Given the description of an element on the screen output the (x, y) to click on. 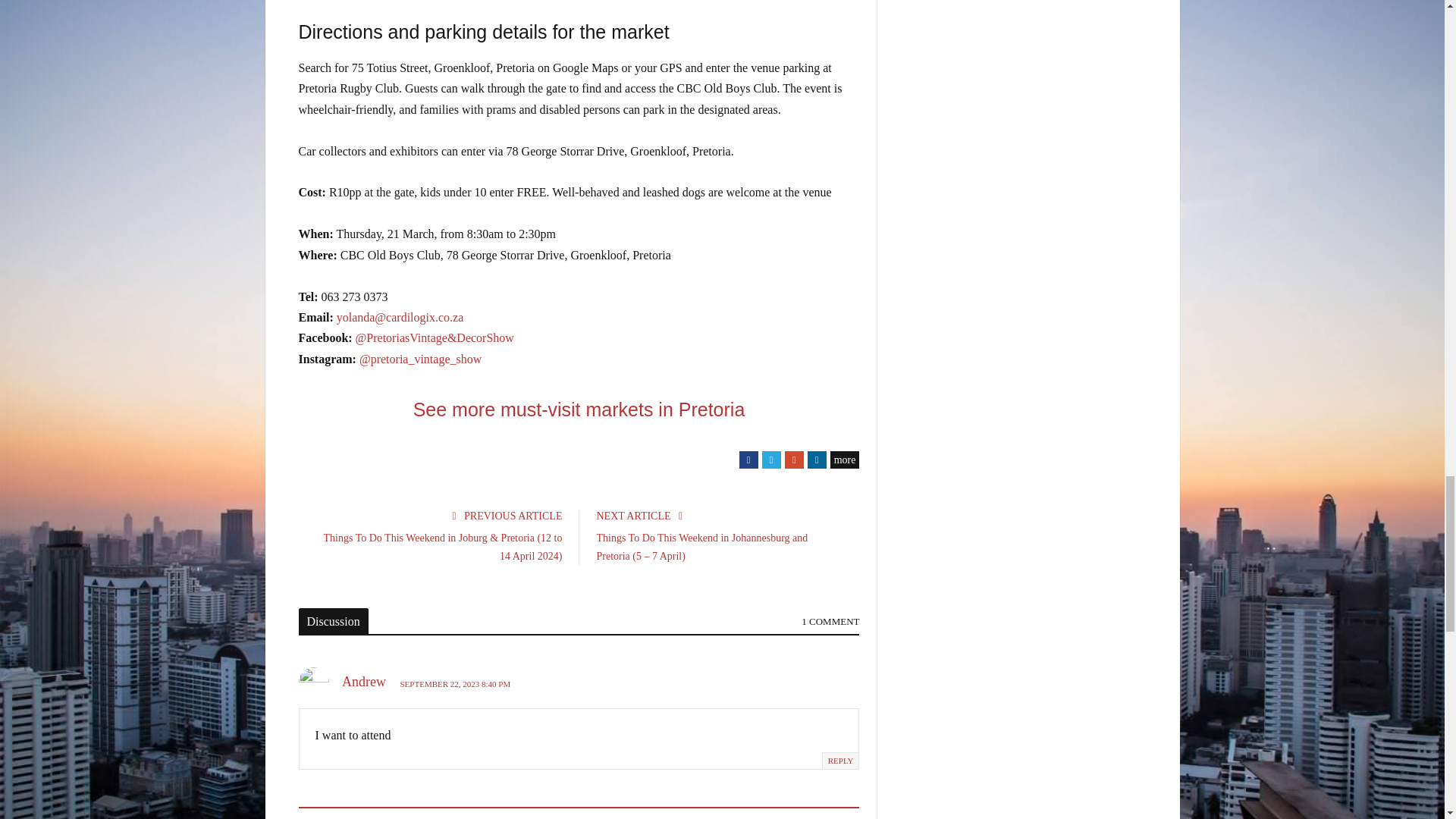
Share on LinkedIn (817, 459)
Tweet It (770, 459)
September 22, 2023 at 8:40 pm (454, 684)
Share on Facebook (748, 459)
